Given the description of an element on the screen output the (x, y) to click on. 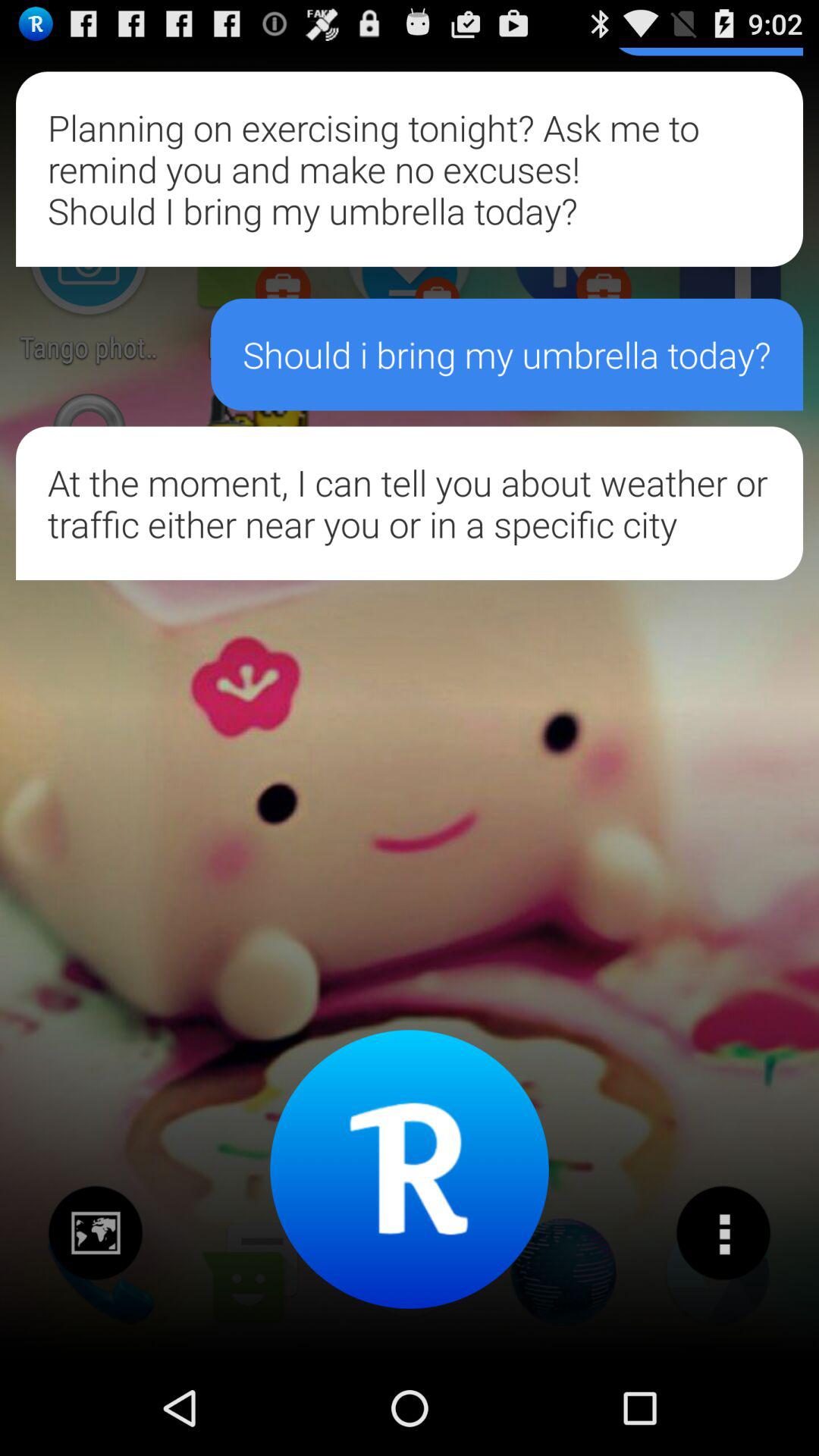
navigate (95, 1232)
